Given the description of an element on the screen output the (x, y) to click on. 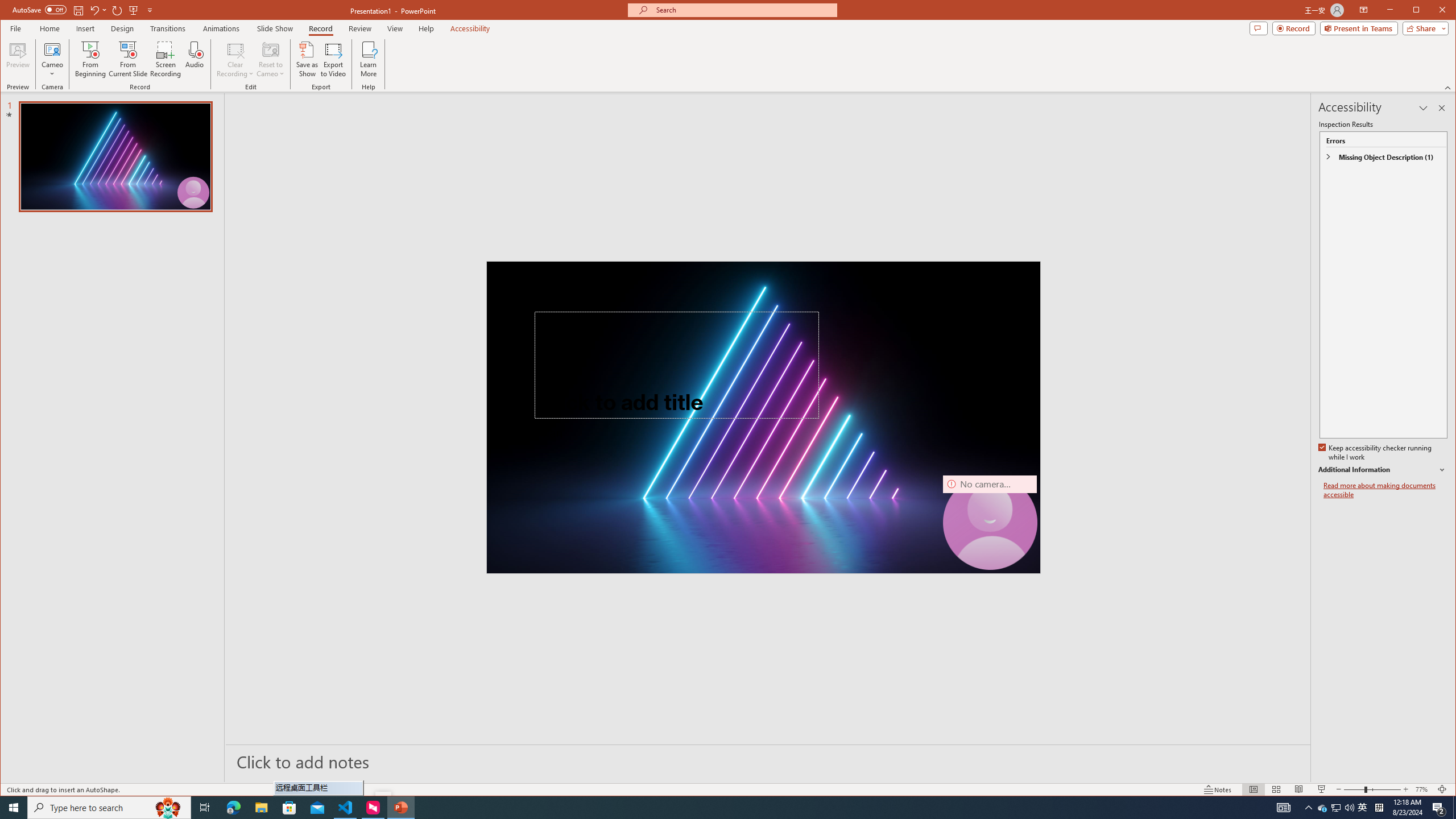
Neon laser lights aligned to form a triangle (762, 417)
Export to Video (333, 59)
Clear Recording (234, 59)
